Given the description of an element on the screen output the (x, y) to click on. 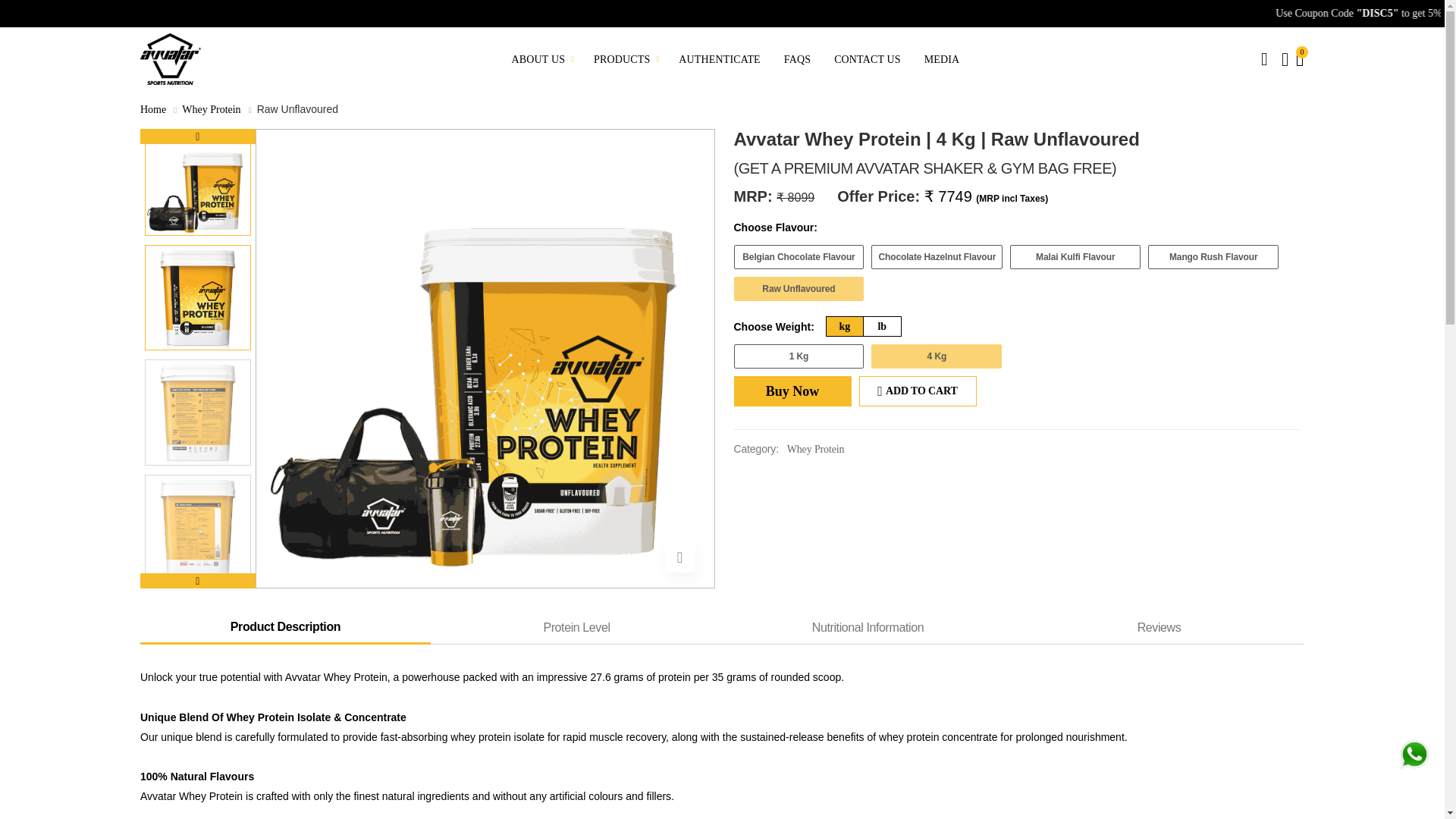
CONTACT US (867, 59)
Malai Kulfi Flavour (1075, 256)
PRODUCTS (624, 59)
MEDIA (942, 59)
4 Kg (935, 355)
Mango Rush Flavour (1213, 256)
FAQS (796, 59)
ABOUT US (540, 59)
Belgian Chocolate Flavour (798, 256)
Raw Unflavoured (798, 288)
